Given the description of an element on the screen output the (x, y) to click on. 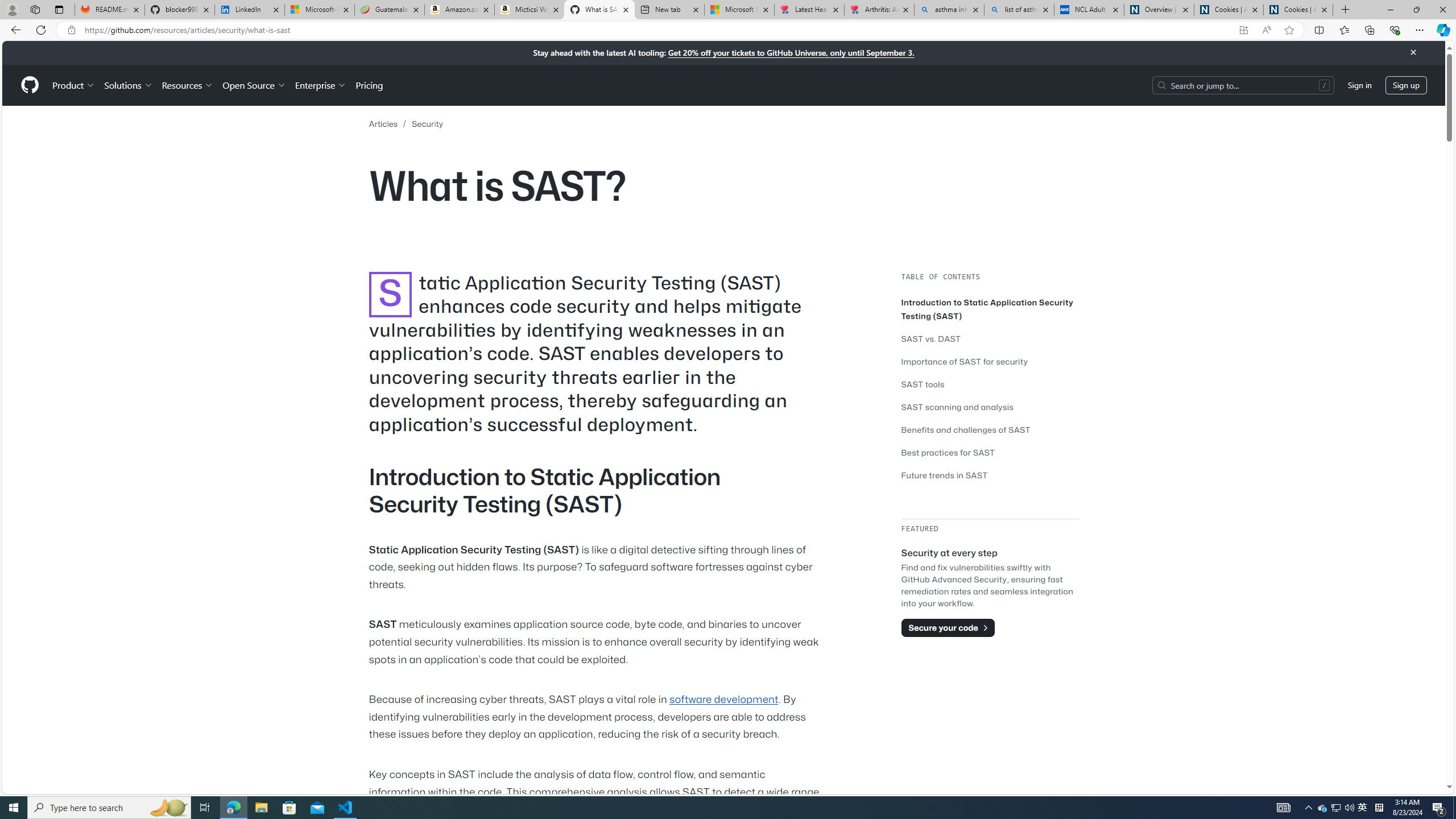
Product (74, 84)
Importance of SAST for security (964, 361)
Solutions (128, 84)
Resources (187, 84)
SAST vs. DAST (930, 338)
Best practices for SAST (948, 452)
SAST tools (922, 384)
Future trends in SAST (989, 475)
